Given the description of an element on the screen output the (x, y) to click on. 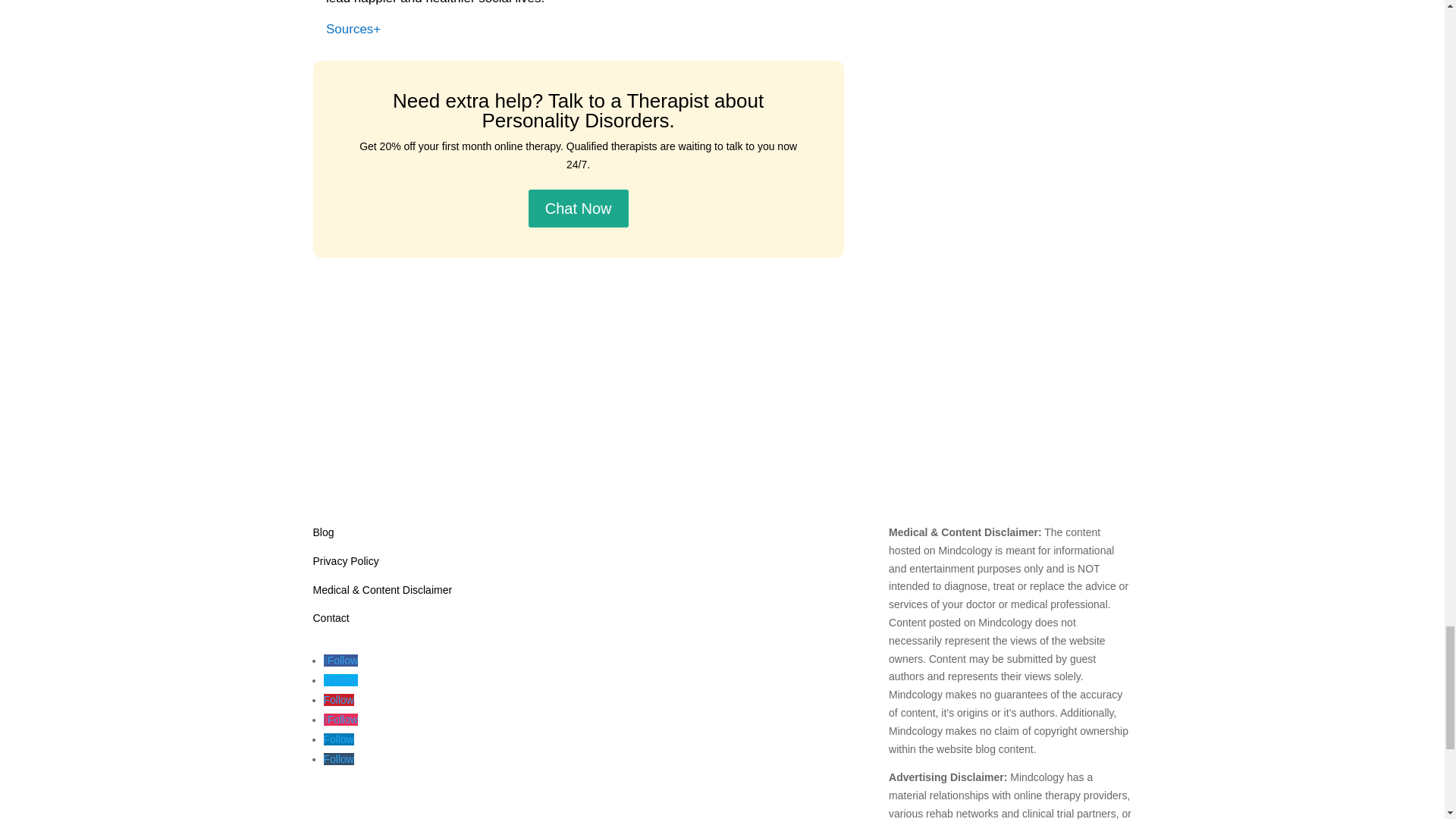
Follow on LinkedIn (338, 739)
Privacy Policy (345, 561)
Follow on Pinterest (338, 699)
Chat Now (578, 208)
Follow on Facebook (340, 660)
Follow on Twitter (340, 680)
Blog (323, 532)
Follow on tumblr (338, 758)
Follow on Instagram (340, 719)
